Given the description of an element on the screen output the (x, y) to click on. 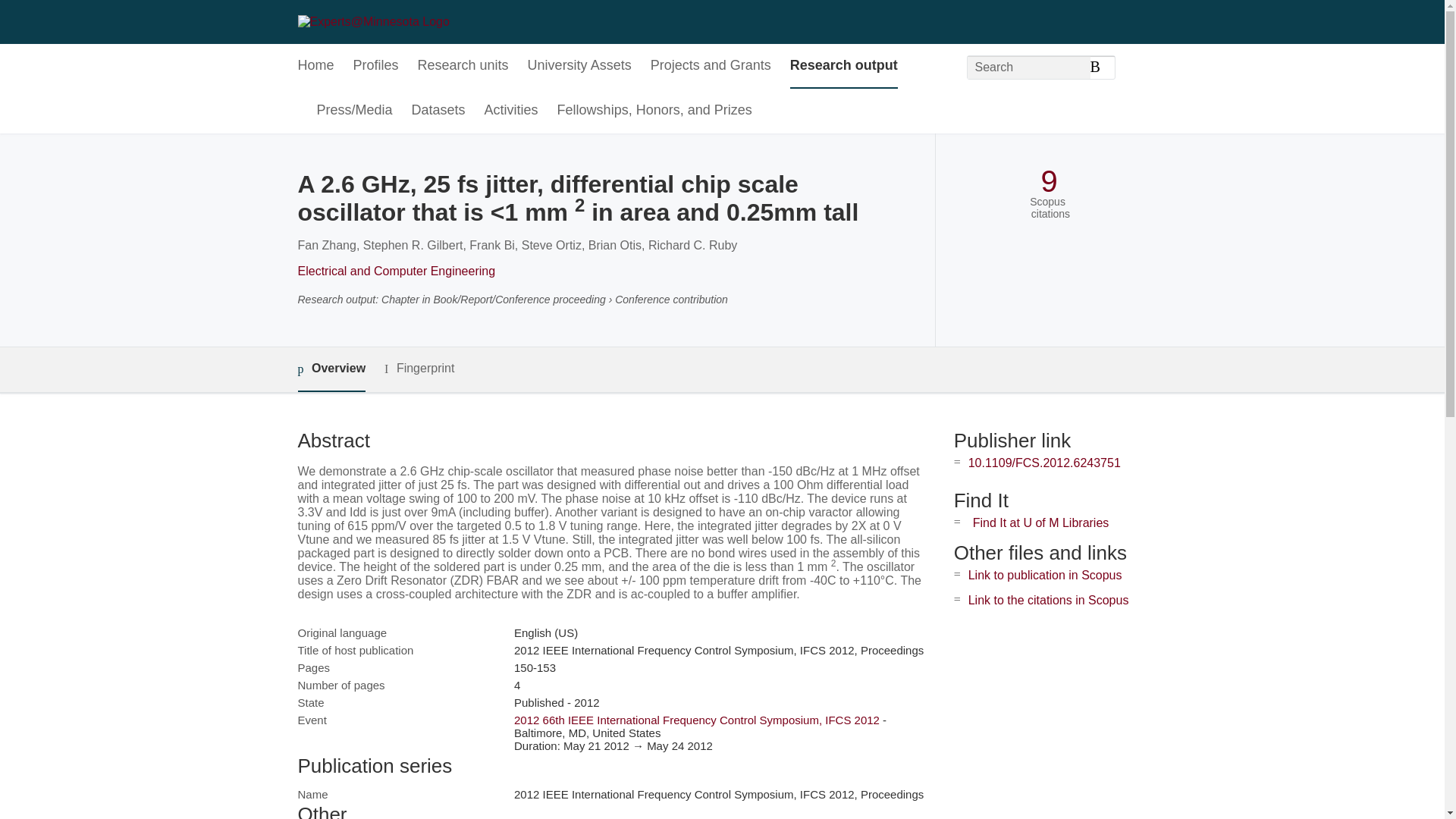
Research output (844, 66)
Activities (511, 110)
Find It at U of M Libraries (1040, 522)
Overview (331, 369)
Link to publication in Scopus (1045, 574)
Electrical and Computer Engineering (396, 270)
Profiles (375, 66)
Projects and Grants (710, 66)
Link to the citations in Scopus (1048, 599)
